Given the description of an element on the screen output the (x, y) to click on. 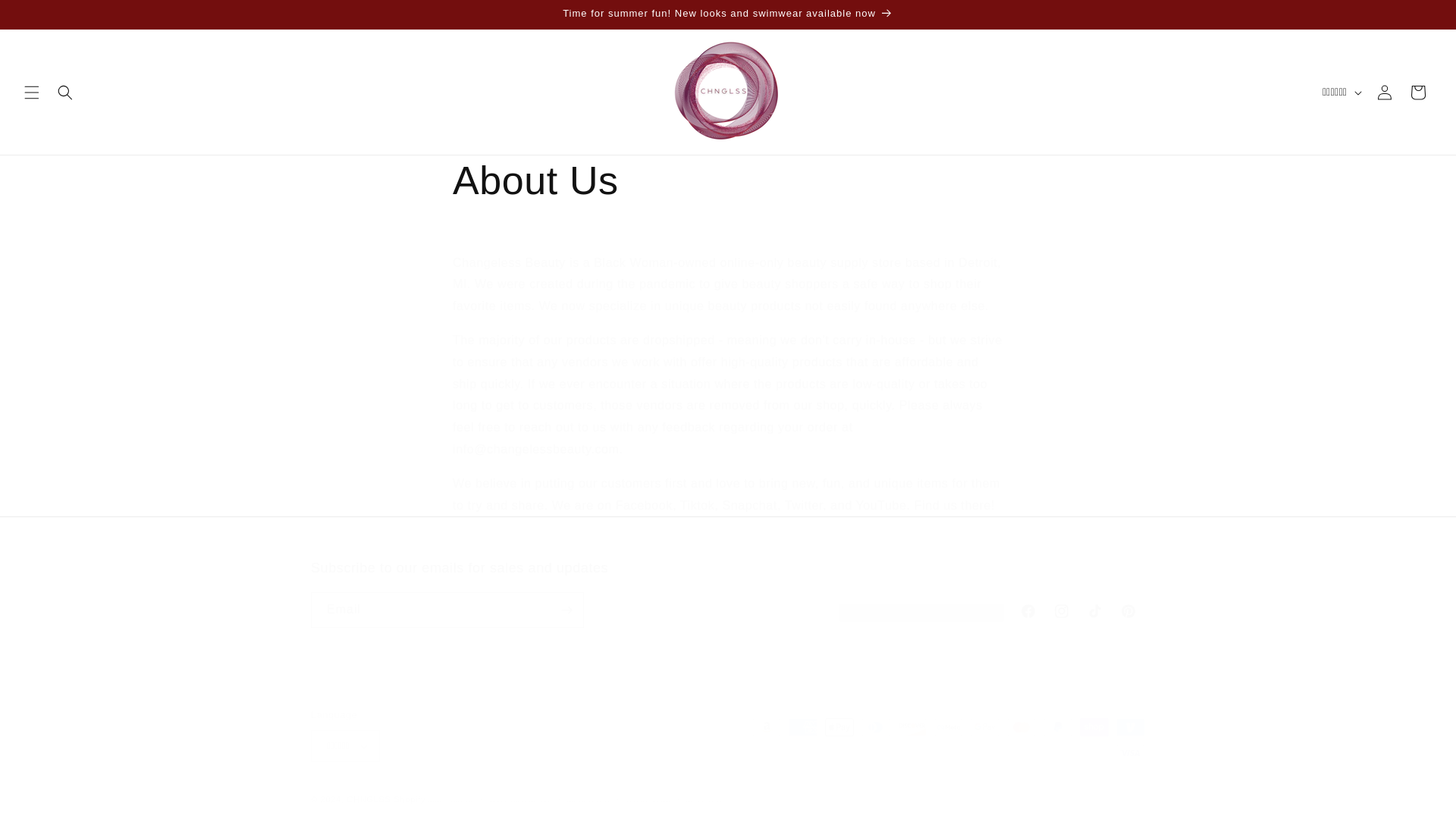
About Us (727, 181)
Time for summer fun! New looks and swimwear available now (727, 14)
Skip to content (45, 17)
